Given the description of an element on the screen output the (x, y) to click on. 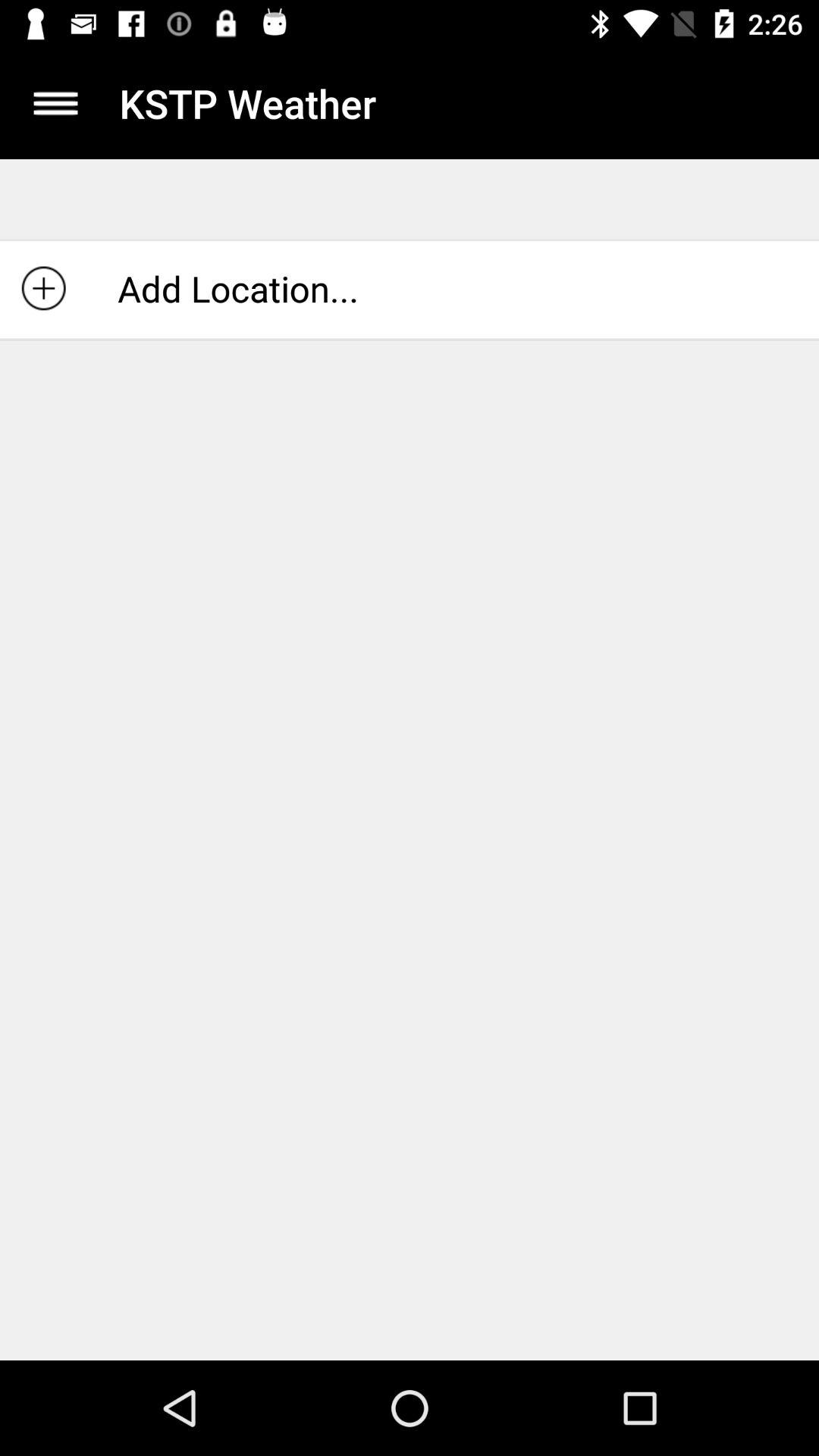
scroll to the add location... item (409, 288)
